Given the description of an element on the screen output the (x, y) to click on. 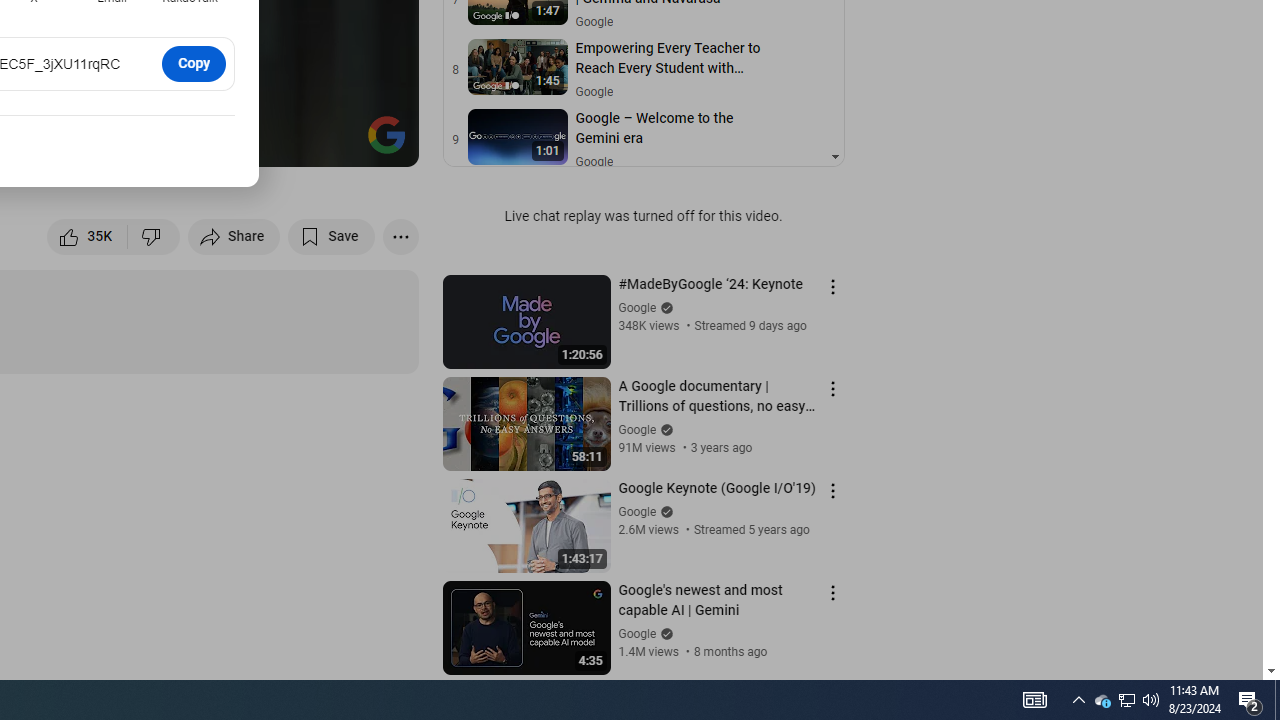
like this video along with 35,367 other people (88, 236)
Full screen (f) (382, 142)
Subtitles/closed captions unavailable (190, 142)
Verified (664, 632)
Dislike this video (154, 236)
Miniplayer (i) (286, 142)
Action menu (832, 592)
Copy (194, 63)
